Given the description of an element on the screen output the (x, y) to click on. 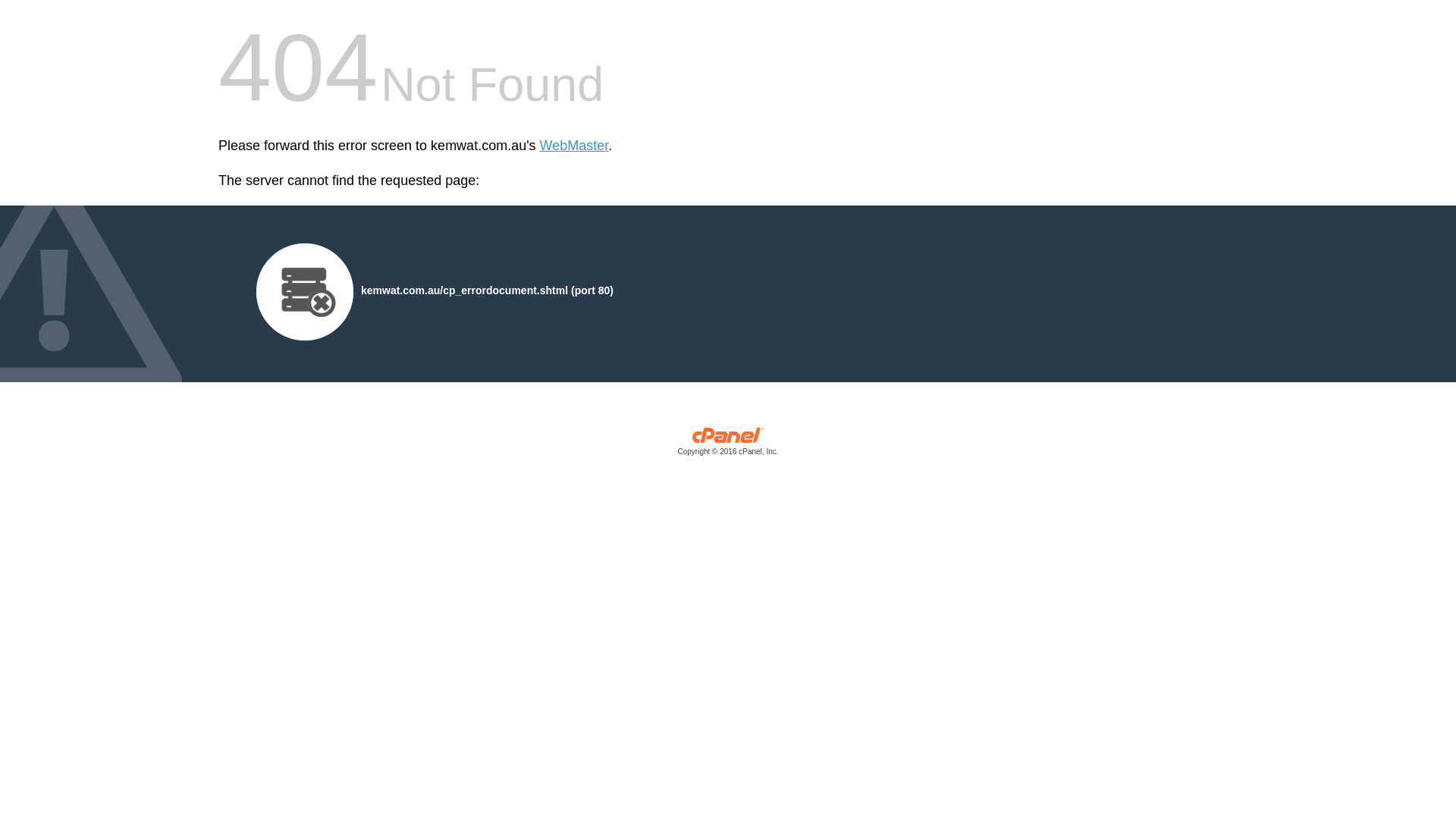
WebMaster Element type: text (573, 145)
